Given the description of an element on the screen output the (x, y) to click on. 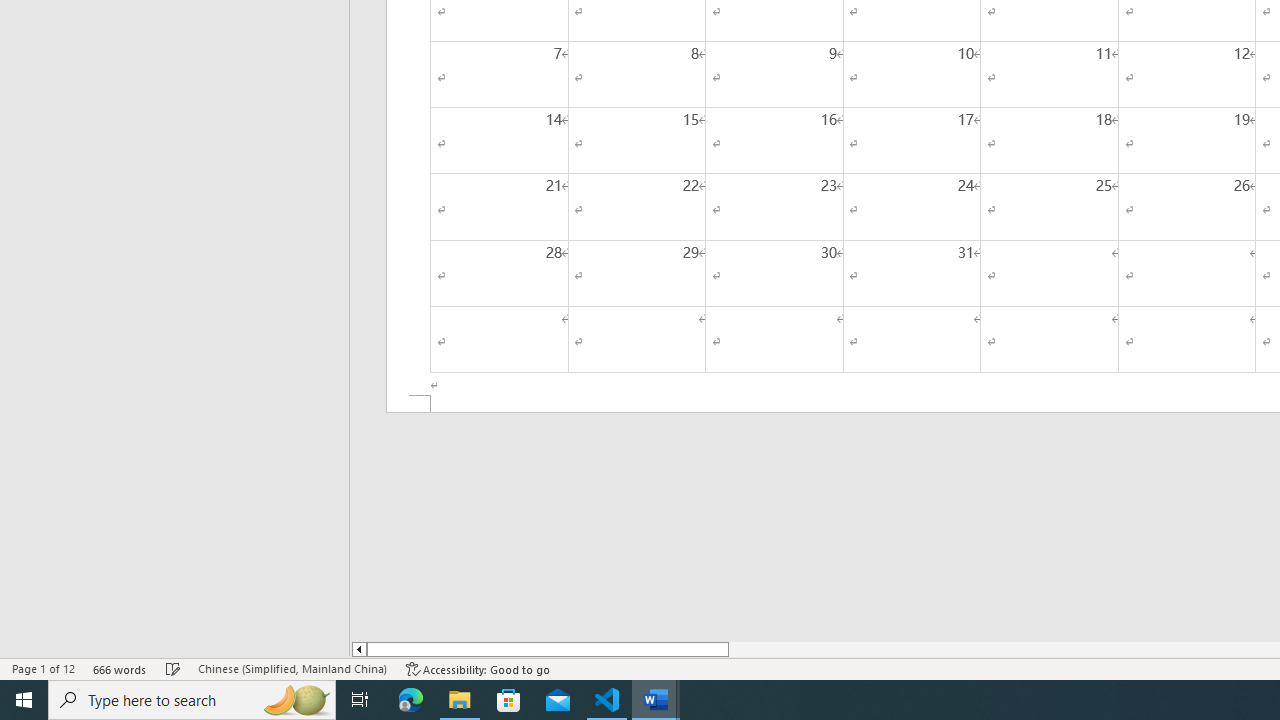
Language Chinese (Simplified, Mainland China) (292, 668)
Accessibility Checker Accessibility: Good to go (478, 668)
Word Count 666 words (119, 668)
Page Number Page 1 of 12 (43, 668)
Spelling and Grammar Check Checking (173, 668)
Column left (358, 649)
